Given the description of an element on the screen output the (x, y) to click on. 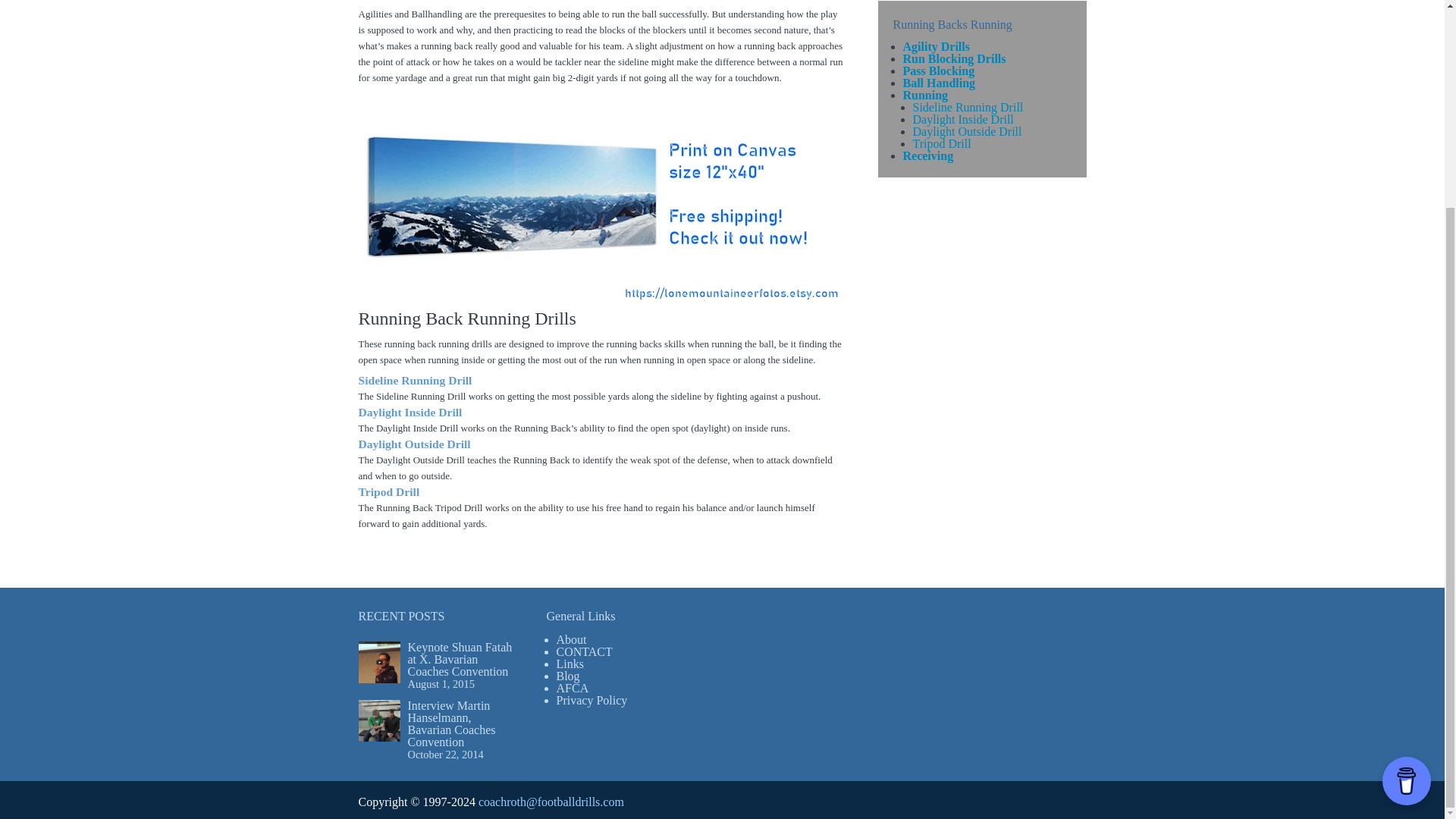
Daylight Inside Drill (409, 411)
Daylight Inside Drill (962, 119)
Running (924, 94)
Daylight Outside Drill (414, 443)
Interview Martin Hanselmann, Bavarian Coaches Convention (451, 723)
Interview Martin Hanselmann, Bavarian Coaches Convention (451, 723)
Run Blocking Drills (954, 58)
Agility Drills (935, 46)
Pass Blocking (938, 70)
Receiving (927, 155)
Keynote Shuan Fatah at X. Bavarian Coaches Convention (459, 659)
Tripod Drill (388, 491)
Tripod Drill (941, 143)
Ball Handling (938, 82)
Sideline Running Drill (414, 379)
